Given the description of an element on the screen output the (x, y) to click on. 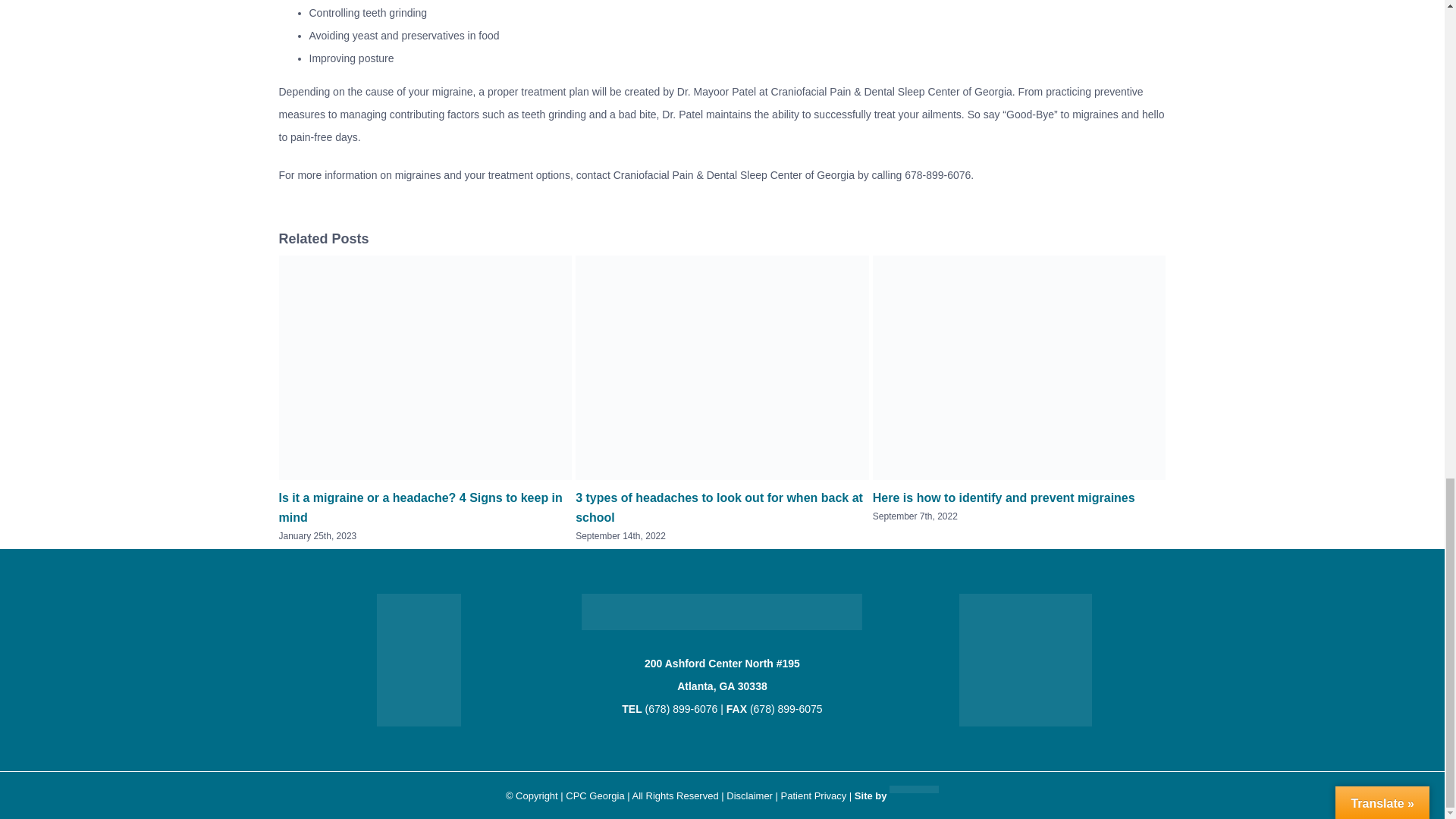
Is it a migraine or a headache? 4 Signs to keep in mind (420, 507)
3 types of headaches to look out for when back at school (719, 507)
Here is how to identify and prevent migraines (1003, 497)
